Given the description of an element on the screen output the (x, y) to click on. 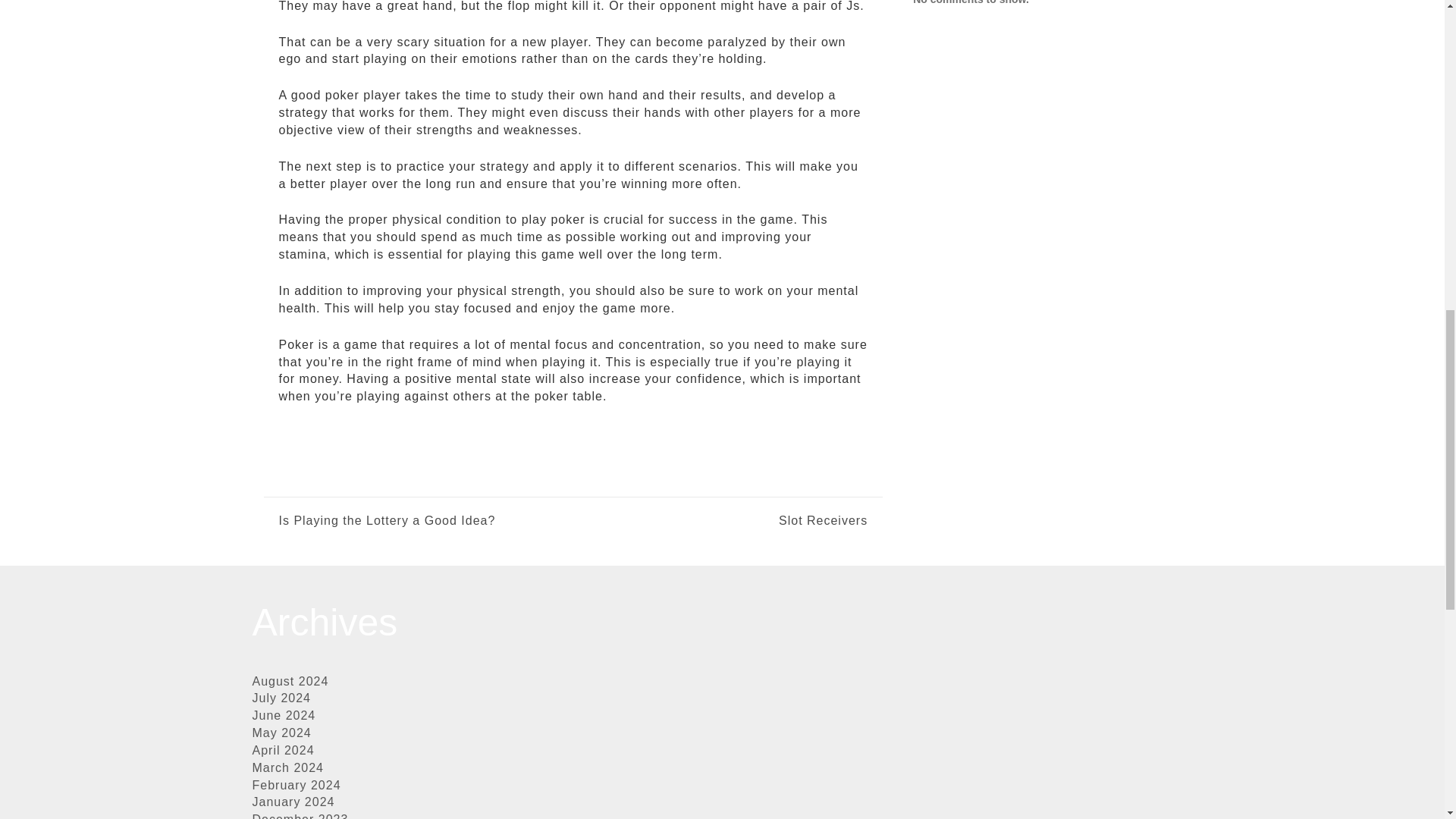
May 2024 (281, 732)
February 2024 (295, 784)
Slot Receivers (720, 520)
March 2024 (287, 767)
July 2024 (281, 697)
June 2024 (283, 715)
April 2024 (282, 749)
Is Playing the Lottery a Good Idea? (387, 520)
August 2024 (290, 680)
December 2023 (299, 816)
